Given the description of an element on the screen output the (x, y) to click on. 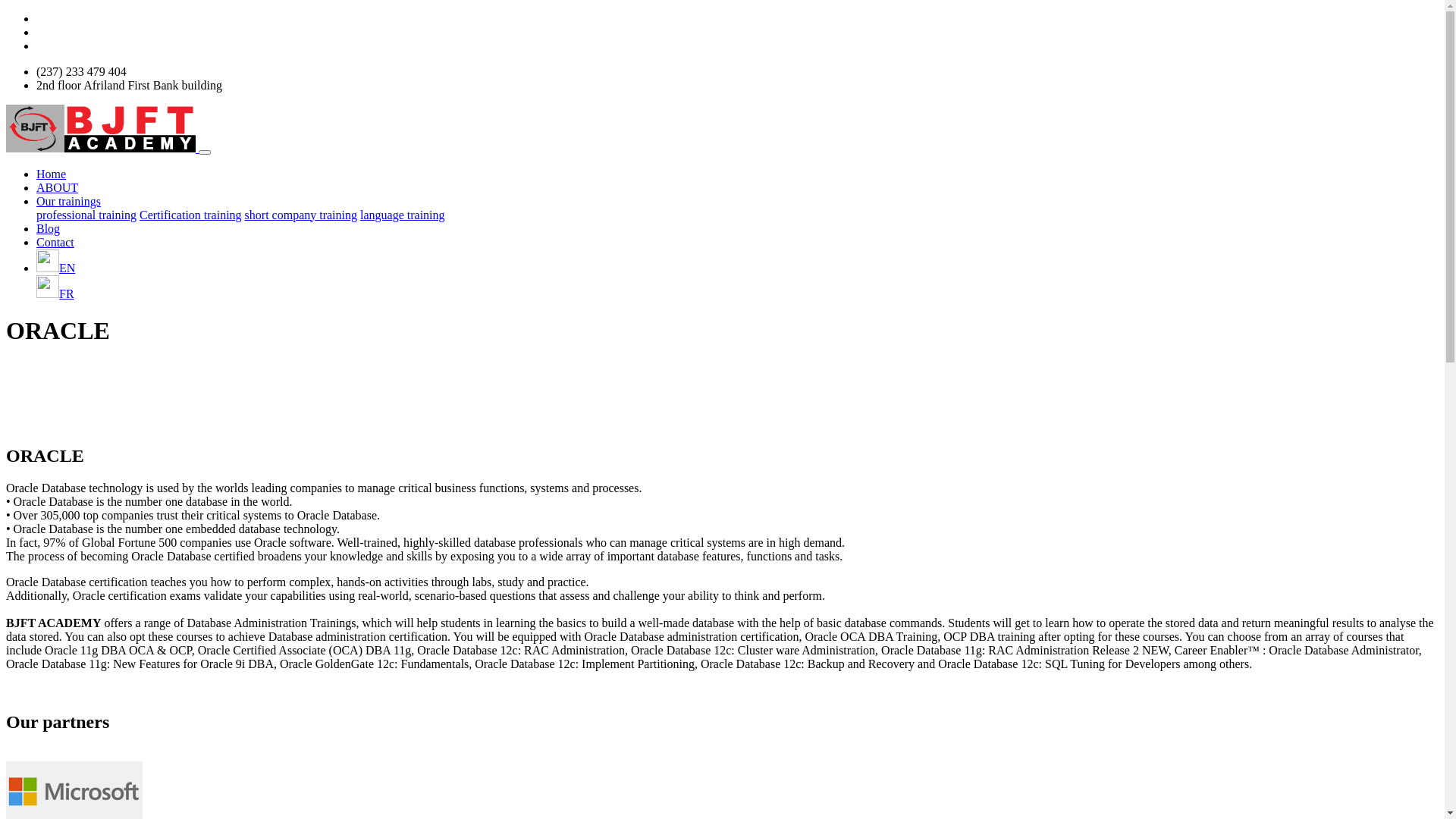
Home Element type: text (50, 172)
Certification training Element type: text (190, 213)
short company training Element type: text (300, 213)
Contact Element type: text (55, 241)
Blog Element type: text (47, 227)
professional training Element type: text (86, 213)
Our trainings Element type: text (68, 200)
ABOUT Element type: text (57, 186)
FR Element type: text (55, 292)
EN Element type: text (55, 266)
language training Element type: text (402, 213)
